Given the description of an element on the screen output the (x, y) to click on. 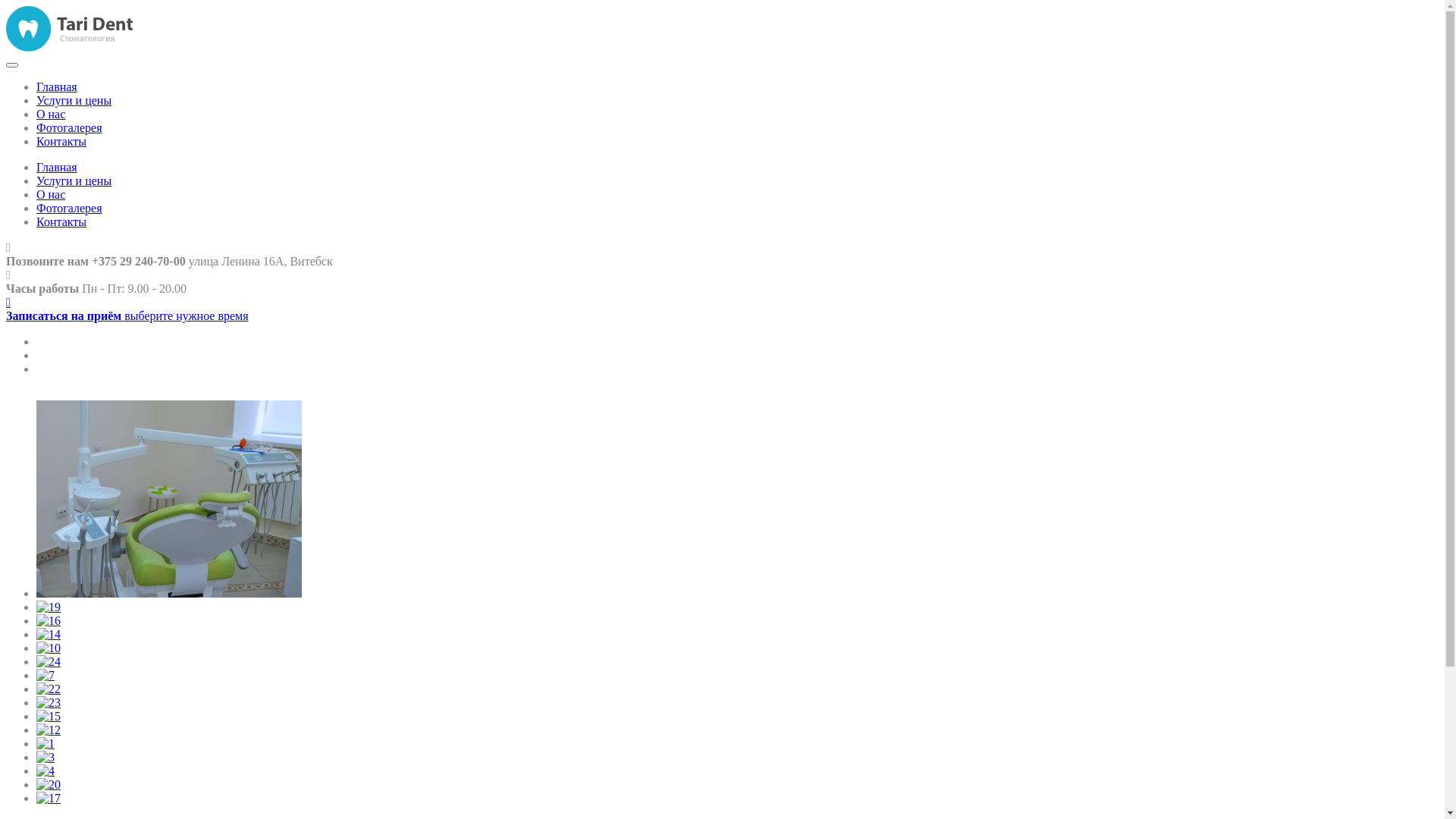
20 Element type: hover (48, 784)
10 Element type: hover (48, 648)
22 Element type: hover (48, 689)
24 Element type: hover (48, 661)
16 Element type: hover (48, 620)
19 Element type: hover (48, 607)
7 Element type: hover (45, 675)
14 Element type: hover (48, 634)
1 Element type: hover (45, 743)
15 Element type: hover (48, 716)
23 Element type: hover (48, 702)
4 Element type: hover (45, 771)
21 Element type: hover (168, 498)
12 Element type: hover (48, 730)
17 Element type: hover (48, 798)
3 Element type: hover (45, 757)
